Given the description of an element on the screen output the (x, y) to click on. 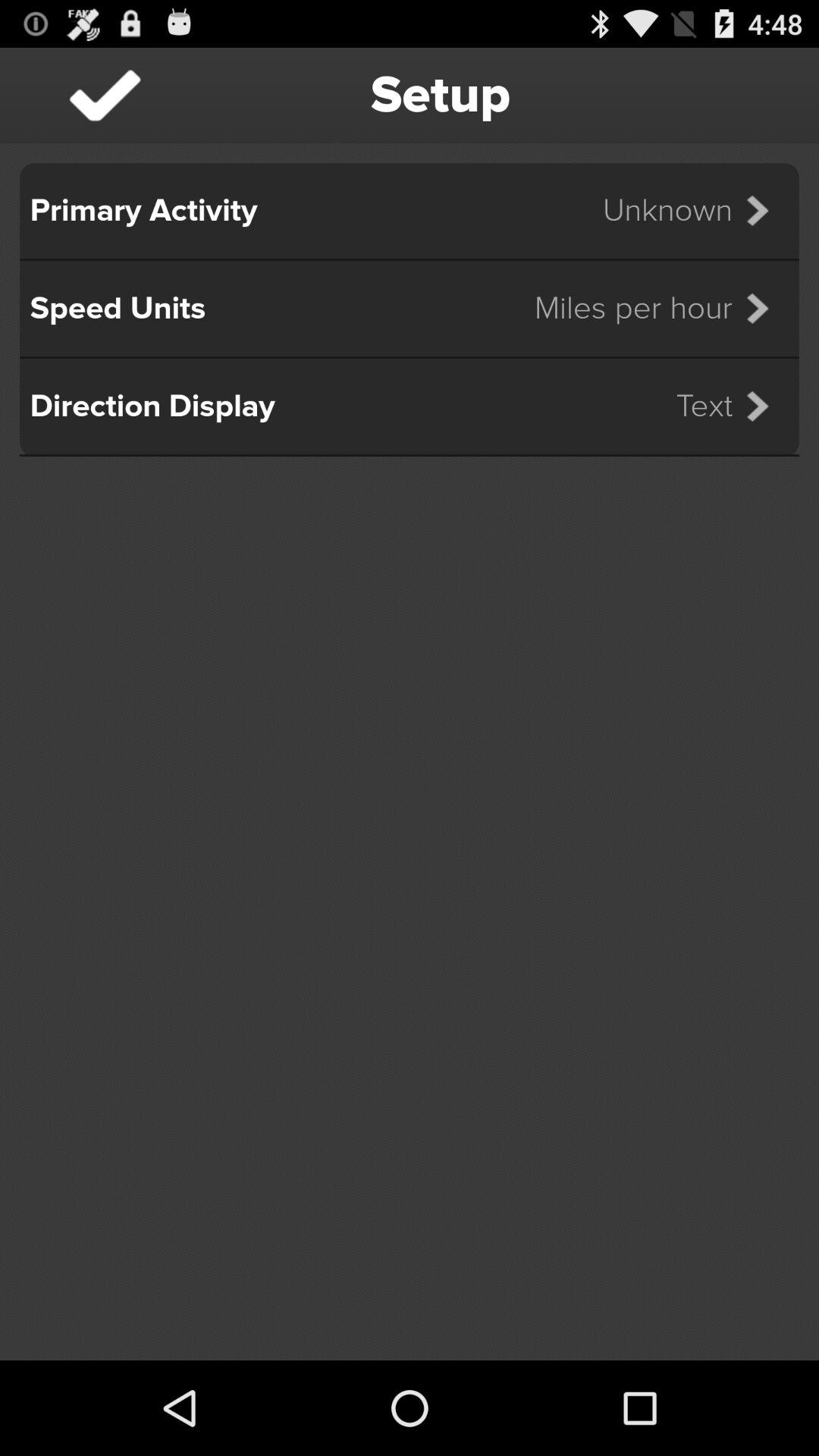
turn off the unknown icon (695, 210)
